Given the description of an element on the screen output the (x, y) to click on. 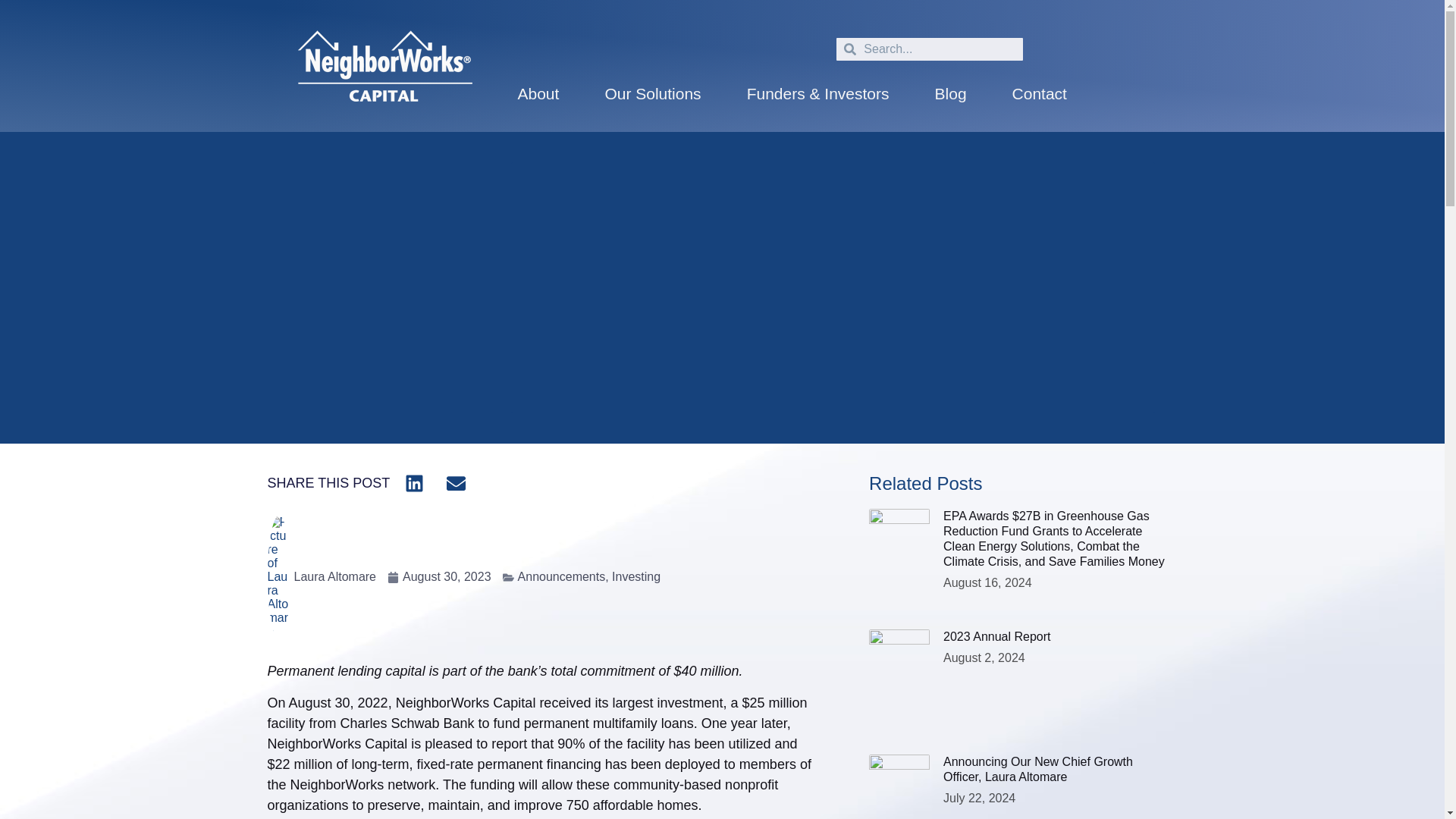
Our Solutions (651, 92)
Contact (1039, 92)
Blog (951, 92)
Laura Altomare (320, 576)
Investing (636, 576)
Announcements (561, 576)
About (537, 92)
